Given the description of an element on the screen output the (x, y) to click on. 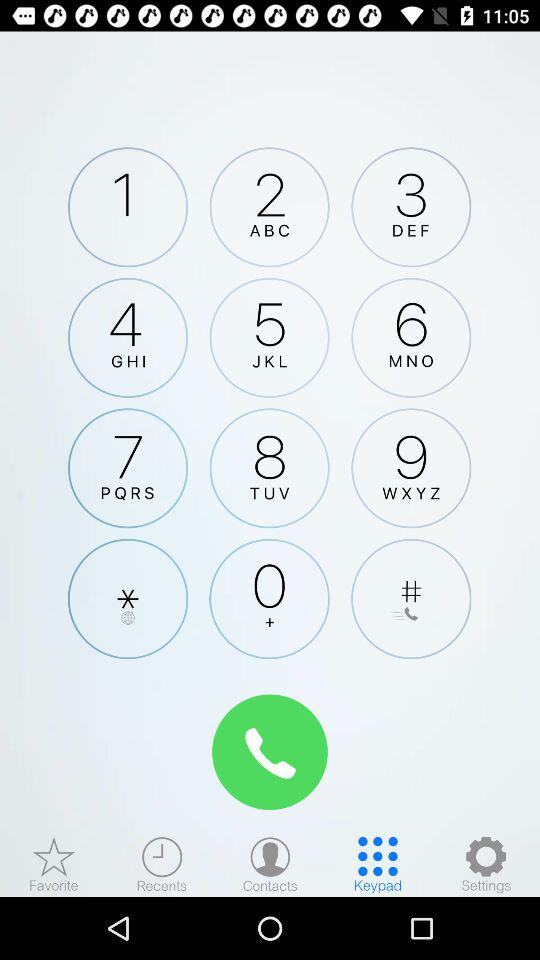
9 (411, 468)
